Given the description of an element on the screen output the (x, y) to click on. 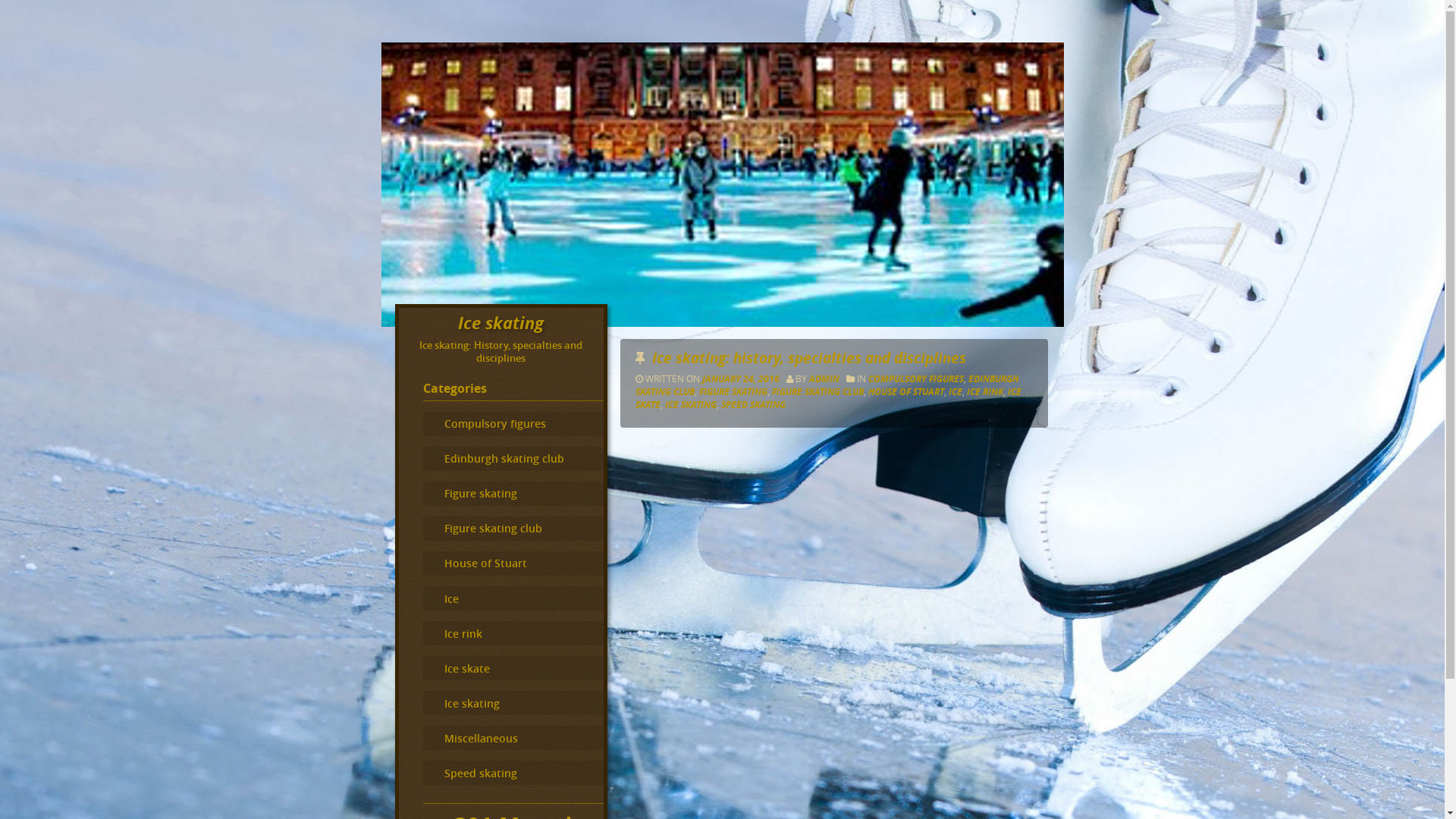
ICE SKATE Element type: text (828, 398)
ICE RINK Element type: text (984, 391)
ADMIN Element type: text (824, 378)
FIGURE SKATING Element type: text (733, 391)
Edinburgh skating club Element type: text (513, 458)
Ice skating Element type: text (500, 322)
Miscellaneous Element type: text (513, 737)
Figure skating Element type: text (513, 493)
ICE SKATING Element type: text (690, 404)
EDINBURGH SKATING CLUB Element type: text (826, 385)
Ice skating: history, specialties and disciplines Element type: text (809, 357)
FIGURE SKATING CLUB Element type: text (817, 391)
Speed skating Element type: text (513, 772)
House of Stuart Element type: text (513, 563)
Ice skate Element type: text (513, 667)
Ice rink Element type: text (513, 633)
Figure skating club Element type: text (513, 528)
HOUSE OF STUART Element type: text (906, 391)
Ice skating Element type: text (513, 702)
JANUARY 24, 2016 Element type: text (741, 378)
Ice Element type: text (513, 598)
COMPULSORY FIGURES Element type: text (915, 378)
SPEED SKATING Element type: text (753, 404)
ICE Element type: text (955, 391)
Compulsory figures Element type: text (513, 423)
